Given the description of an element on the screen output the (x, y) to click on. 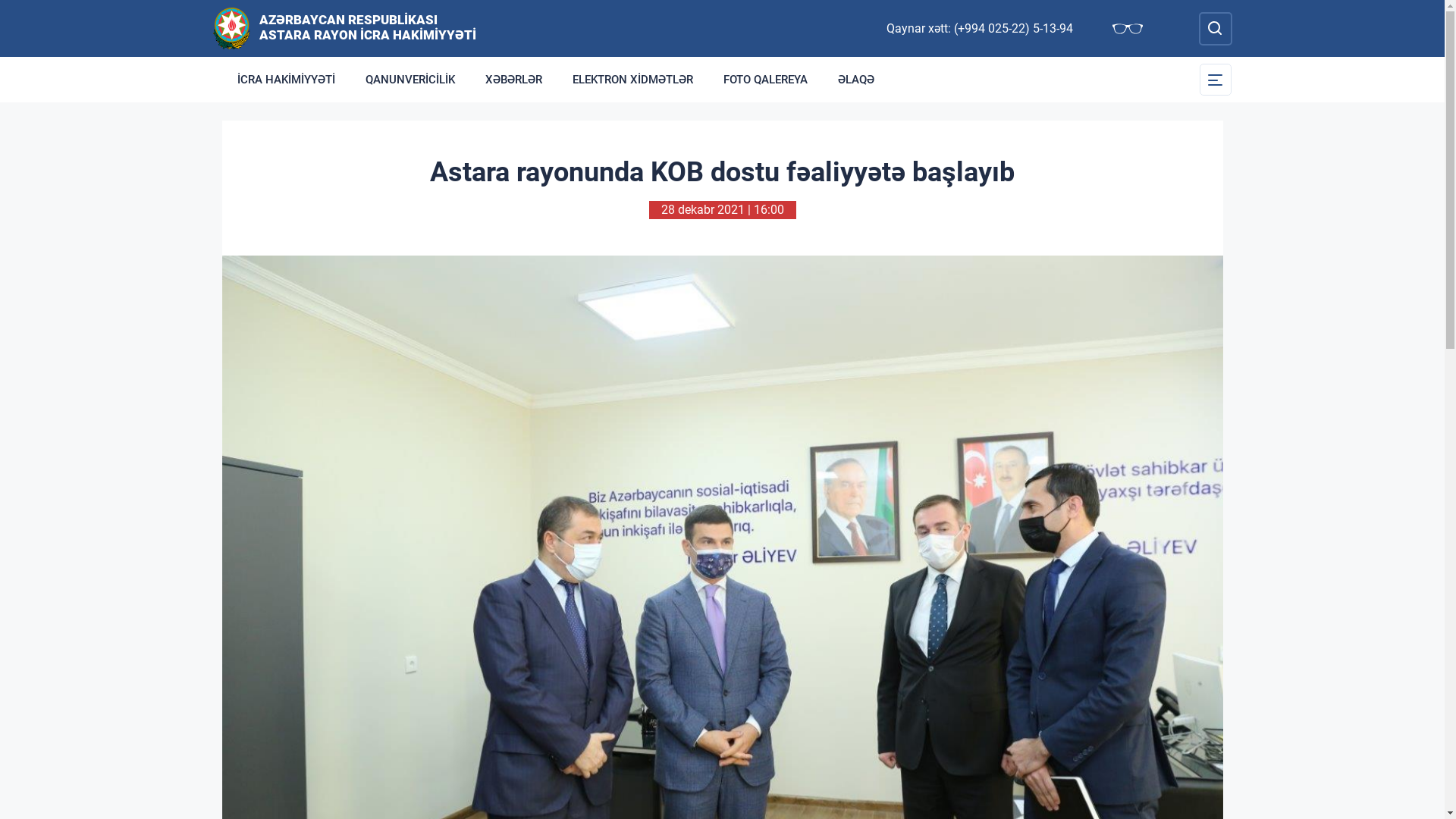
FOTO QALEREYA Element type: text (765, 79)
QANUNVERICILIK Element type: text (410, 79)
